Given the description of an element on the screen output the (x, y) to click on. 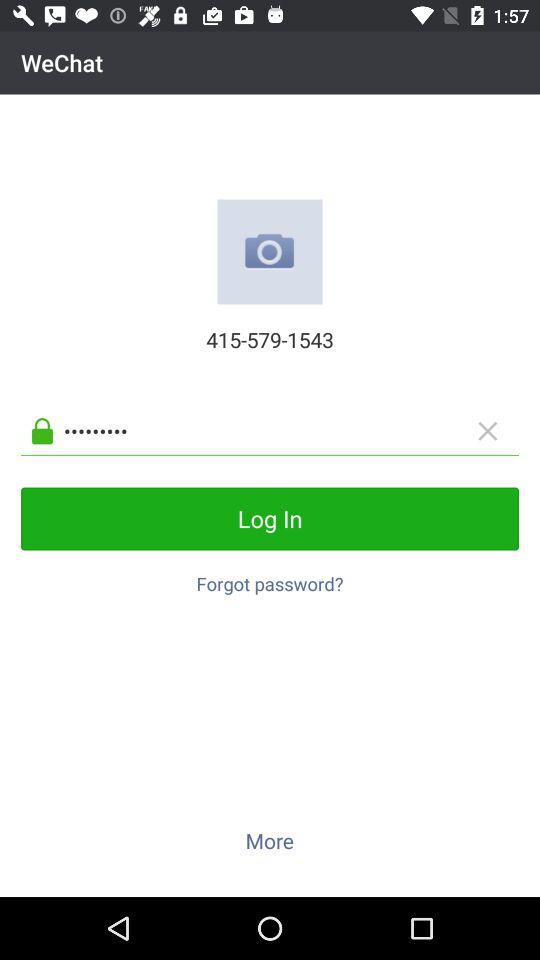
click the item above log in item (285, 430)
